Given the description of an element on the screen output the (x, y) to click on. 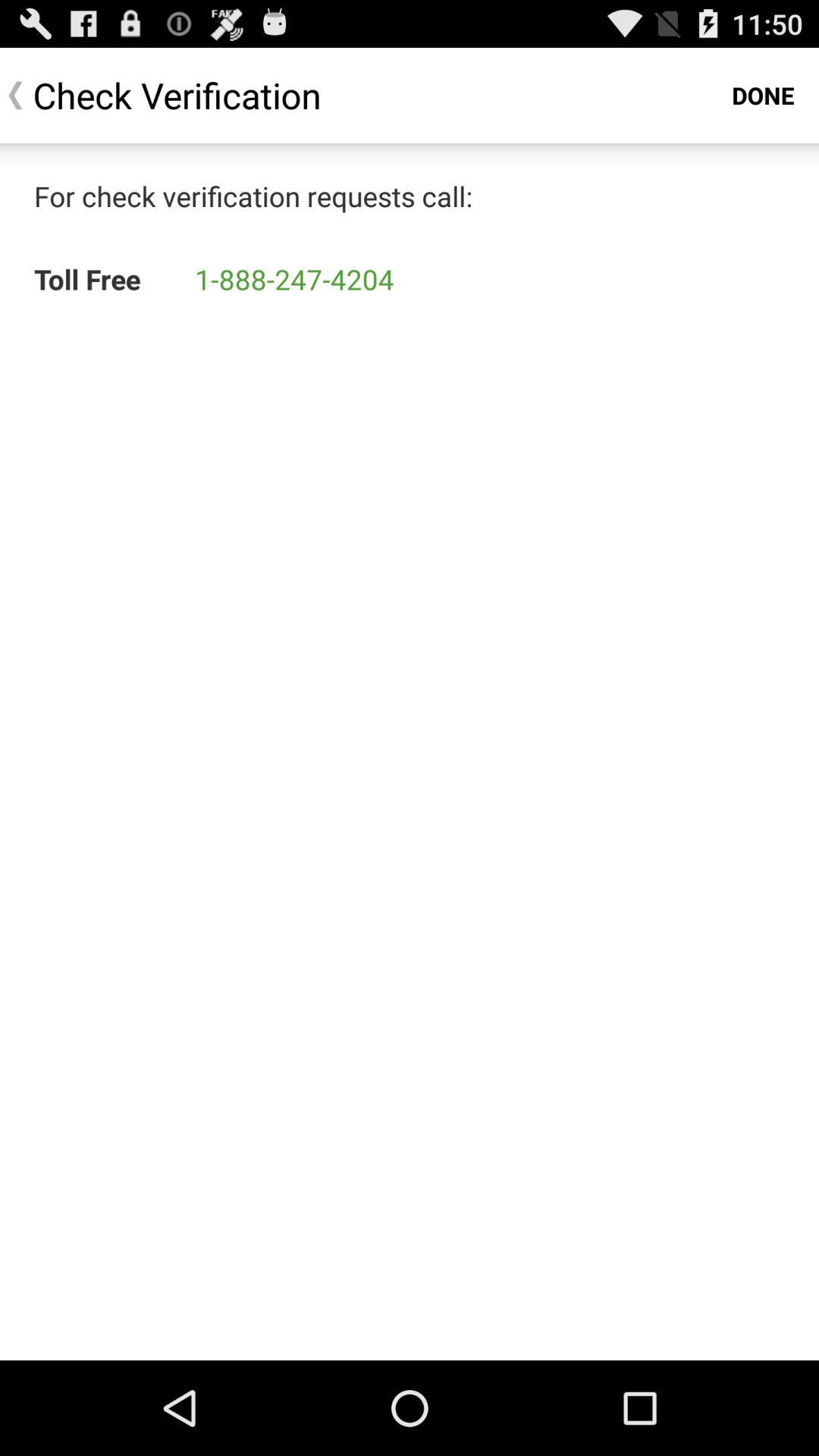
click the done (763, 95)
